Given the description of an element on the screen output the (x, y) to click on. 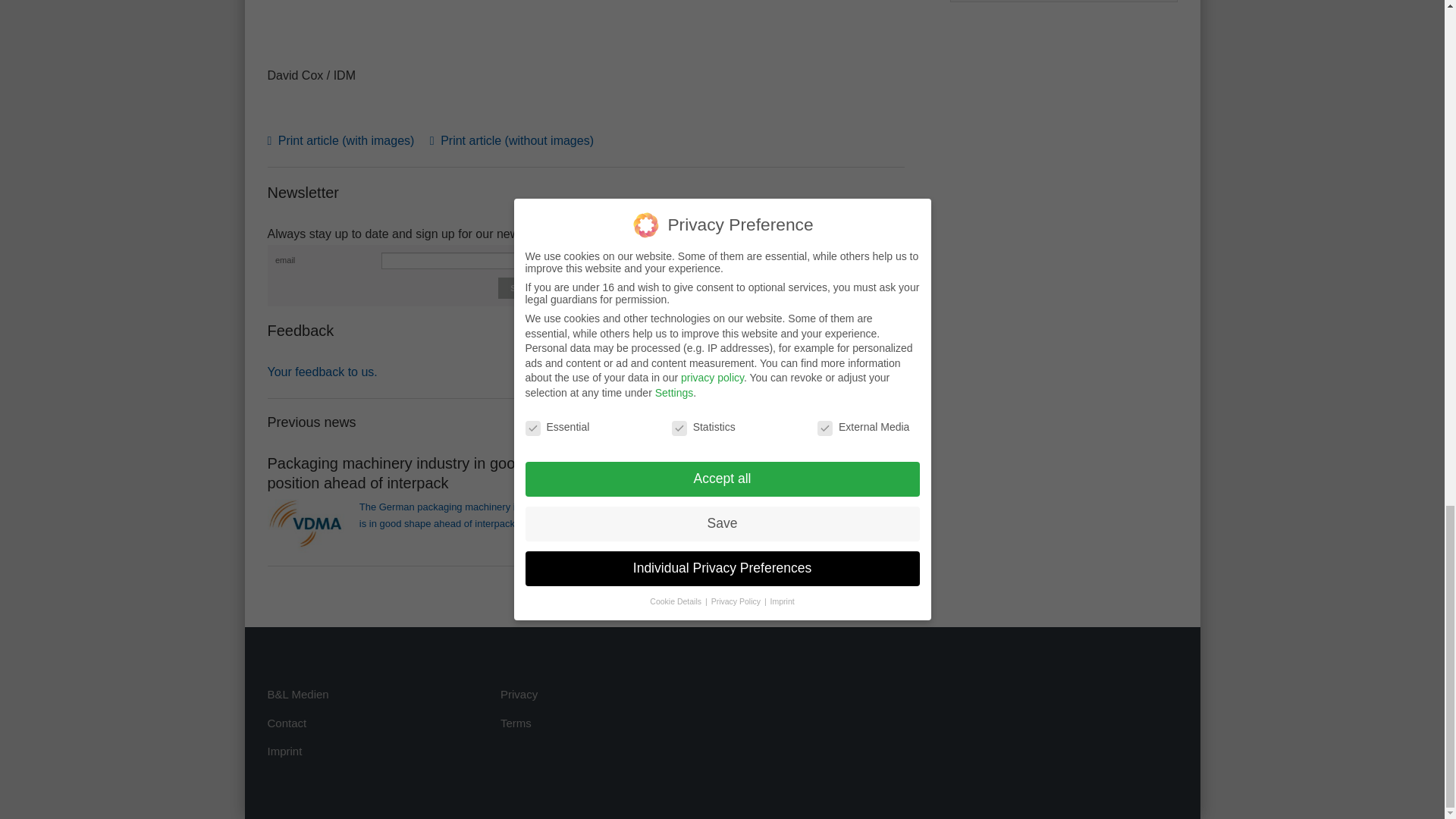
Imprint (283, 750)
Contact (285, 722)
Your feedback to us. (321, 371)
Terms (515, 722)
Privacy (518, 694)
